Given the description of an element on the screen output the (x, y) to click on. 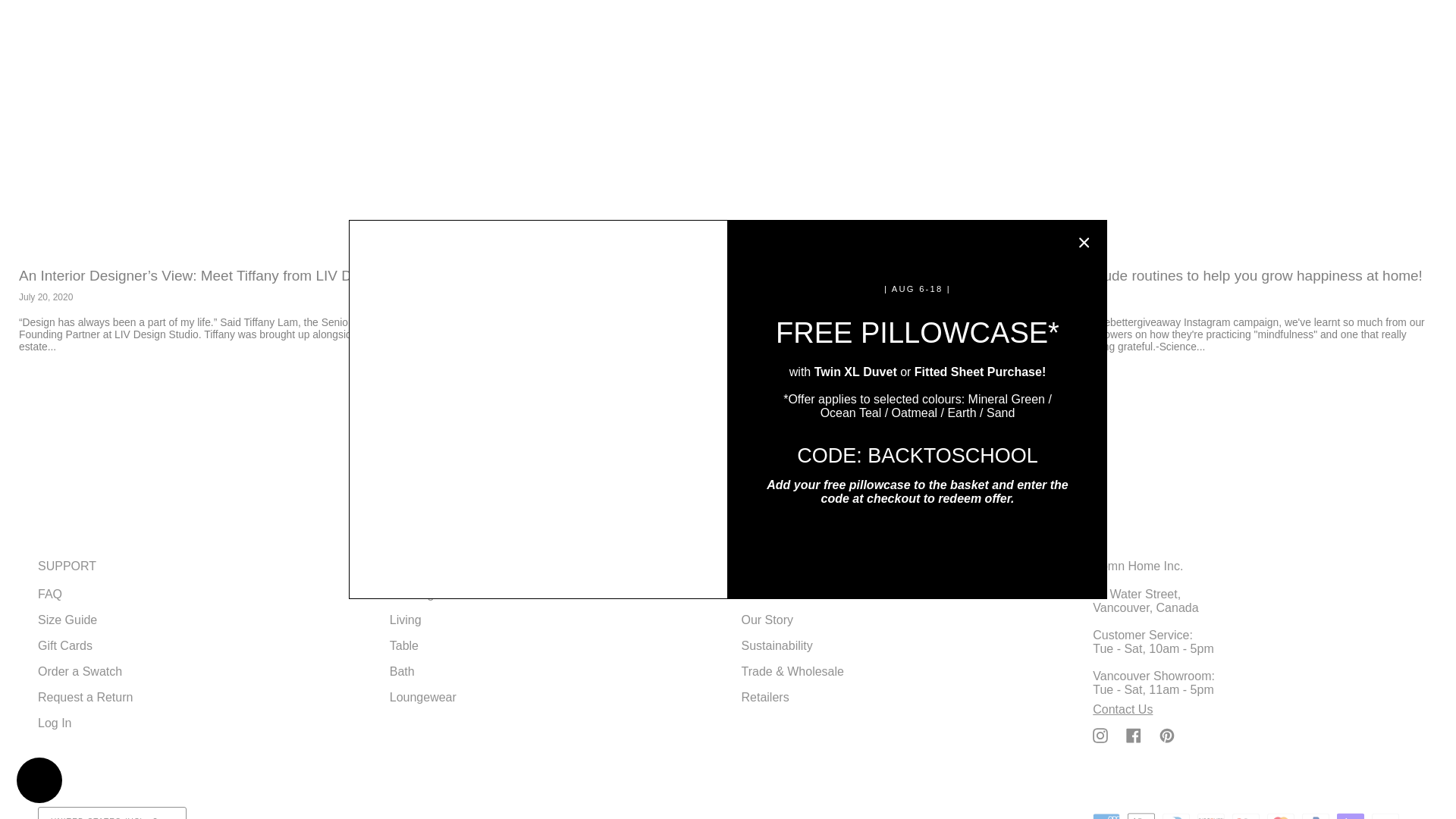
Visa (1385, 816)
Google Pay (1245, 816)
Diners Club (1175, 816)
Shop Pay (1350, 816)
PayPal (1315, 816)
Apple Pay (1140, 816)
Discover (1210, 816)
Mastercard (1280, 816)
American Express (1106, 816)
